Given the description of an element on the screen output the (x, y) to click on. 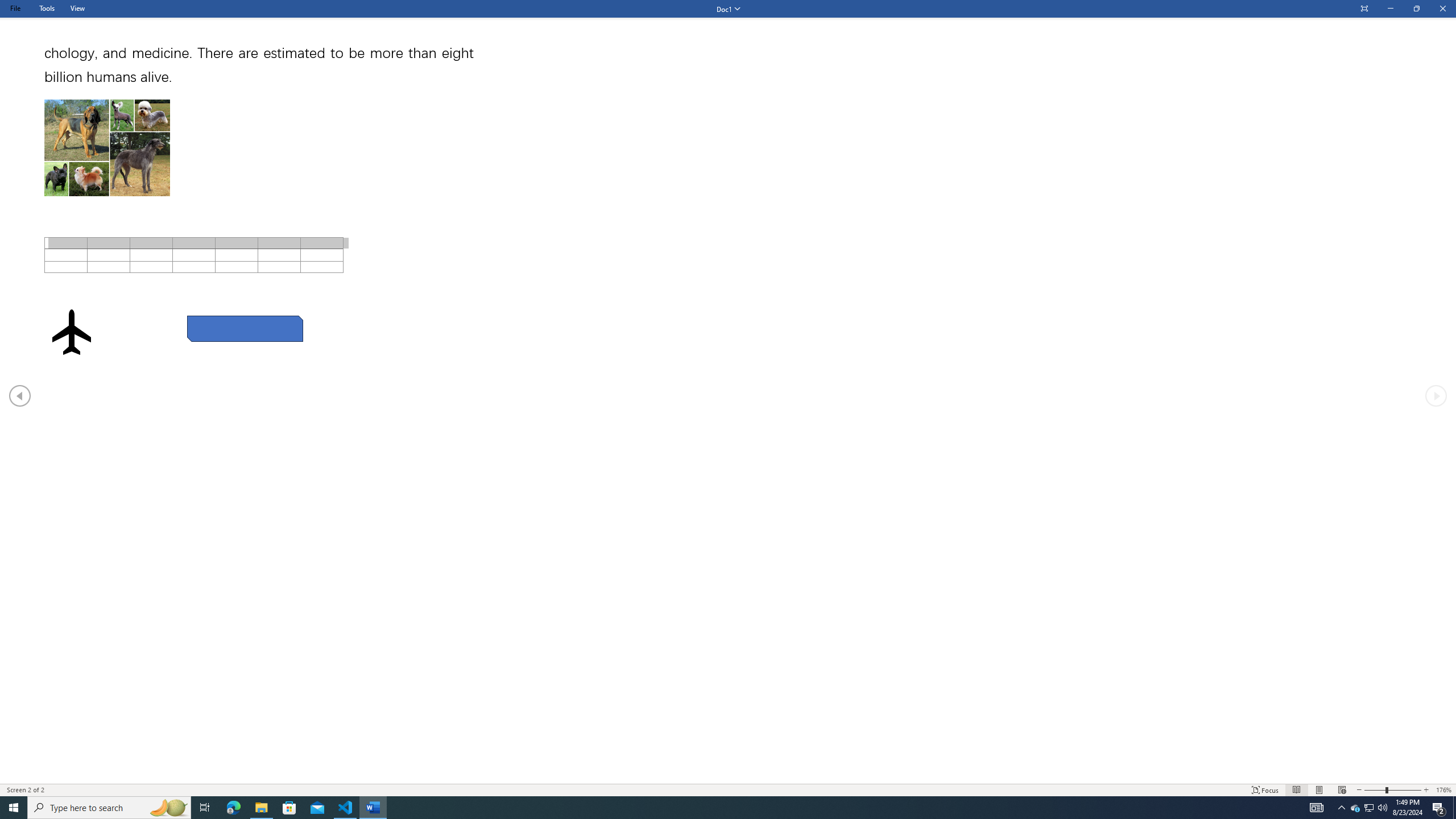
Focus  (1265, 790)
Class: MsoCommandBar (728, 789)
Airplane with solid fill (71, 331)
Tools (46, 8)
Web Layout (1342, 790)
Read Mode (1296, 790)
File Tab (15, 8)
View (77, 8)
Increase Text Size (1426, 790)
